Given the description of an element on the screen output the (x, y) to click on. 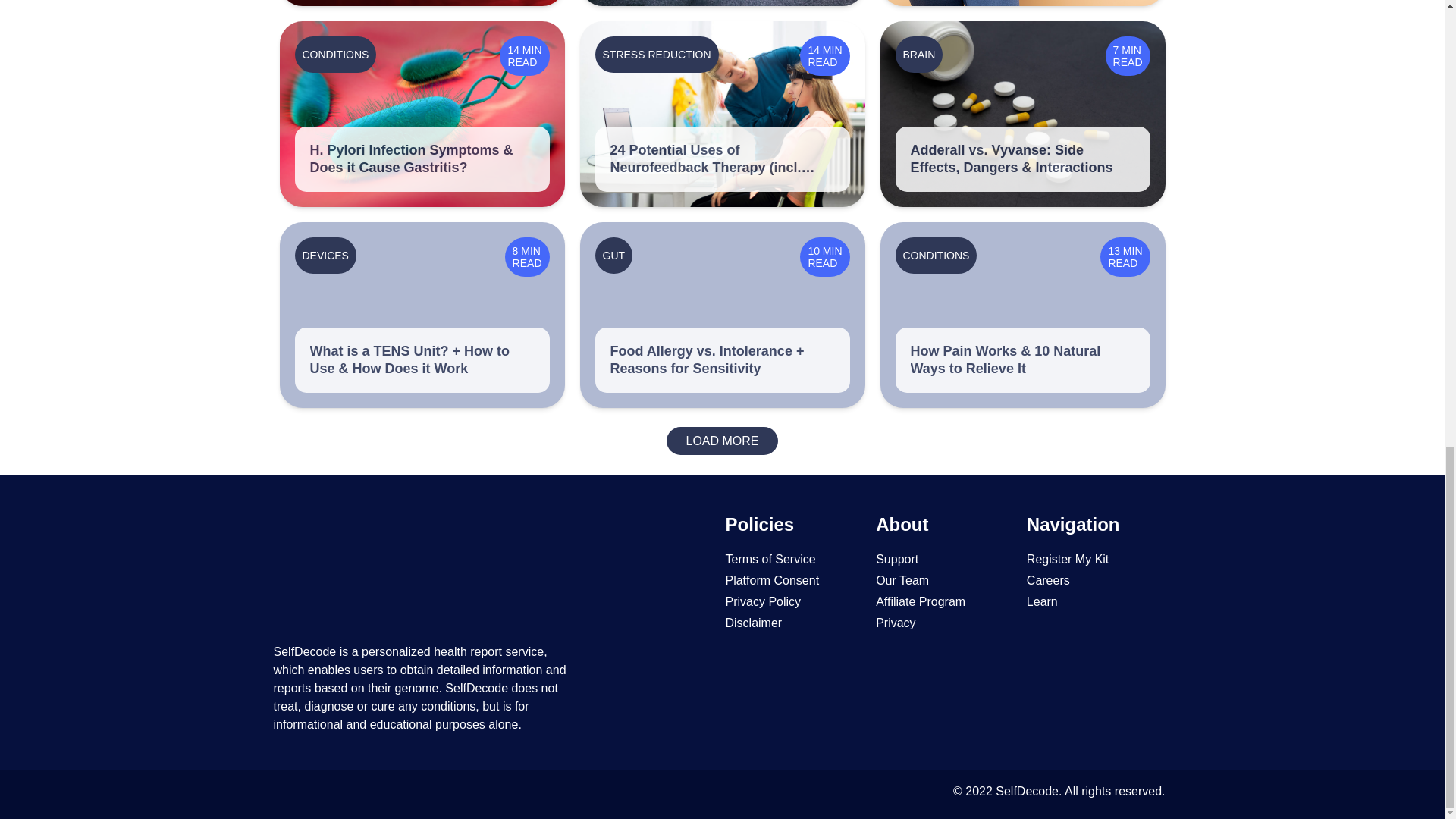
Terms of Service (770, 558)
STRESS REDUCTION (655, 53)
Platform Consent (771, 580)
DEVICES (324, 254)
BRAIN (918, 53)
Privacy Policy (762, 601)
CONDITIONS (334, 53)
GUT (612, 254)
CONDITIONS (935, 254)
LOAD MORE (721, 440)
